Given the description of an element on the screen output the (x, y) to click on. 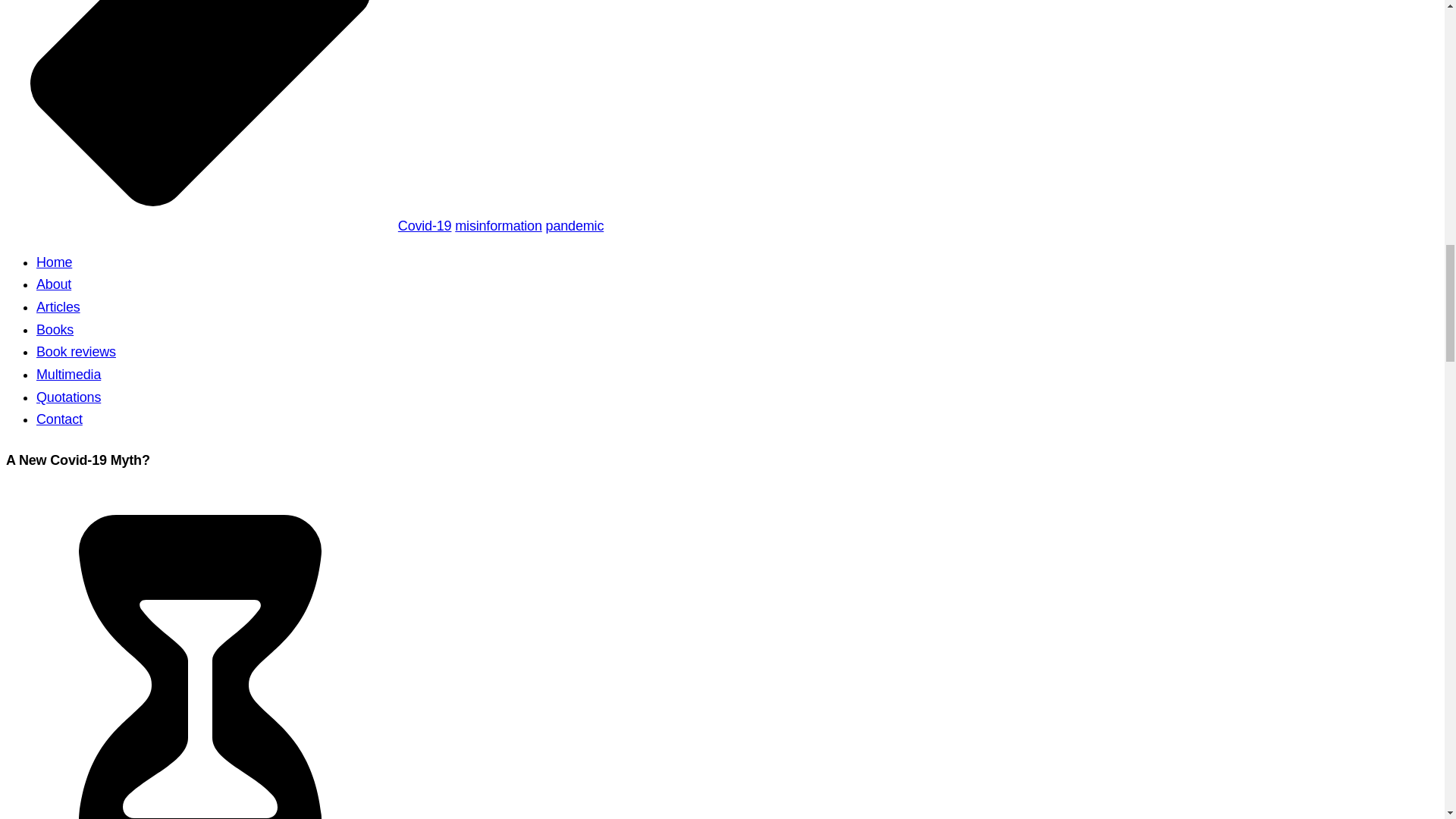
Home (53, 262)
Contact (59, 418)
Quotations (68, 396)
Articles (58, 306)
Books (55, 329)
pandemic (575, 225)
About (53, 283)
Covid-19 (424, 225)
misinformation (497, 225)
Multimedia (68, 374)
Book reviews (76, 351)
